Given the description of an element on the screen output the (x, y) to click on. 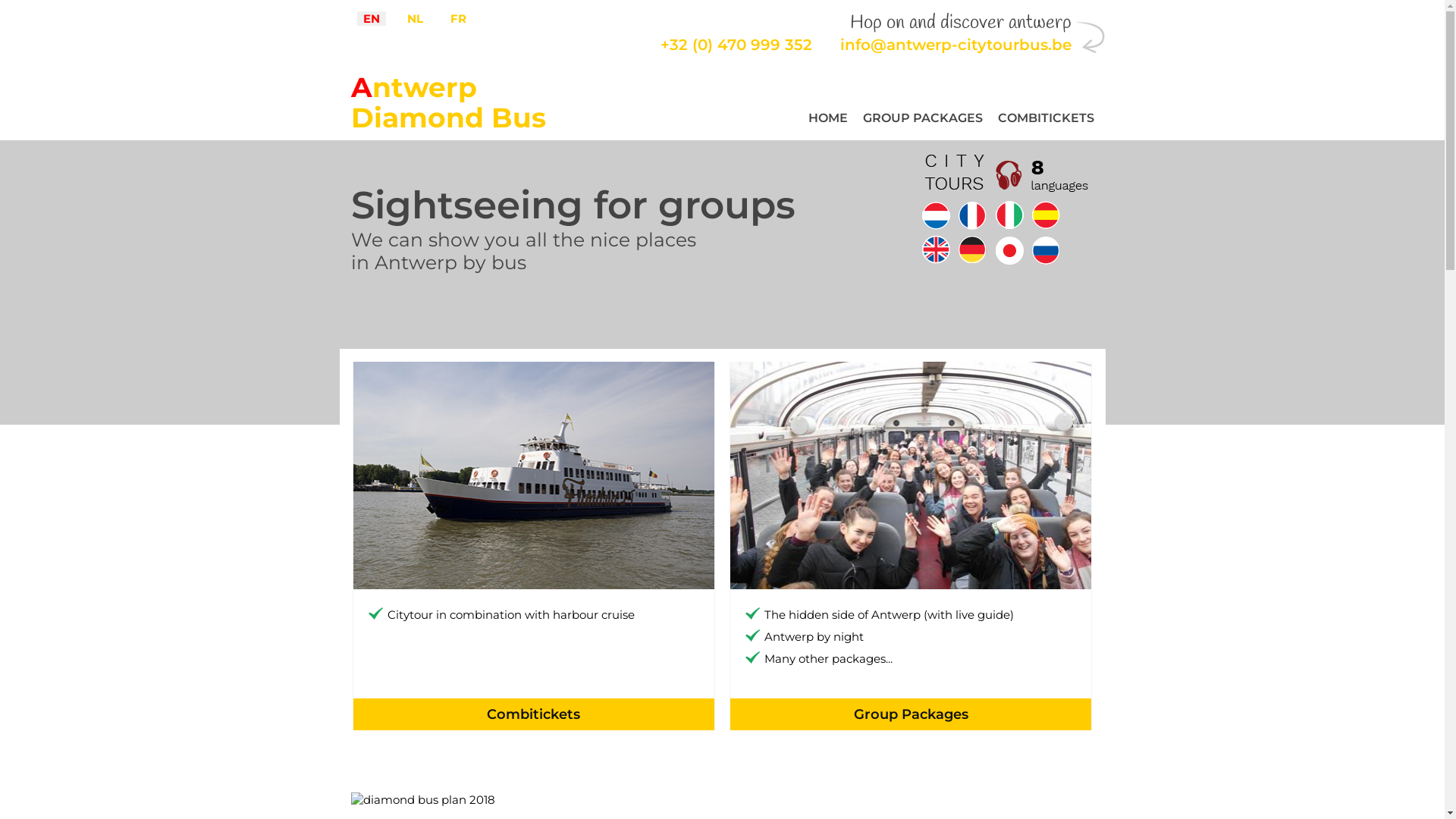
+32 (0) 470 999 352 Element type: text (735, 44)
NL Element type: text (414, 18)
EN Element type: text (370, 18)
Group Packages Element type: text (910, 714)
GROUP PACKAGES Element type: text (922, 117)
HOME Element type: text (827, 117)
Antwerp
Diamond Bus Element type: text (447, 102)
FR Element type: text (458, 18)
Combitickets Element type: text (533, 714)
COMBITICKETS Element type: text (1045, 117)
info@antwerp-citytourbus.be Element type: text (955, 44)
